Given the description of an element on the screen output the (x, y) to click on. 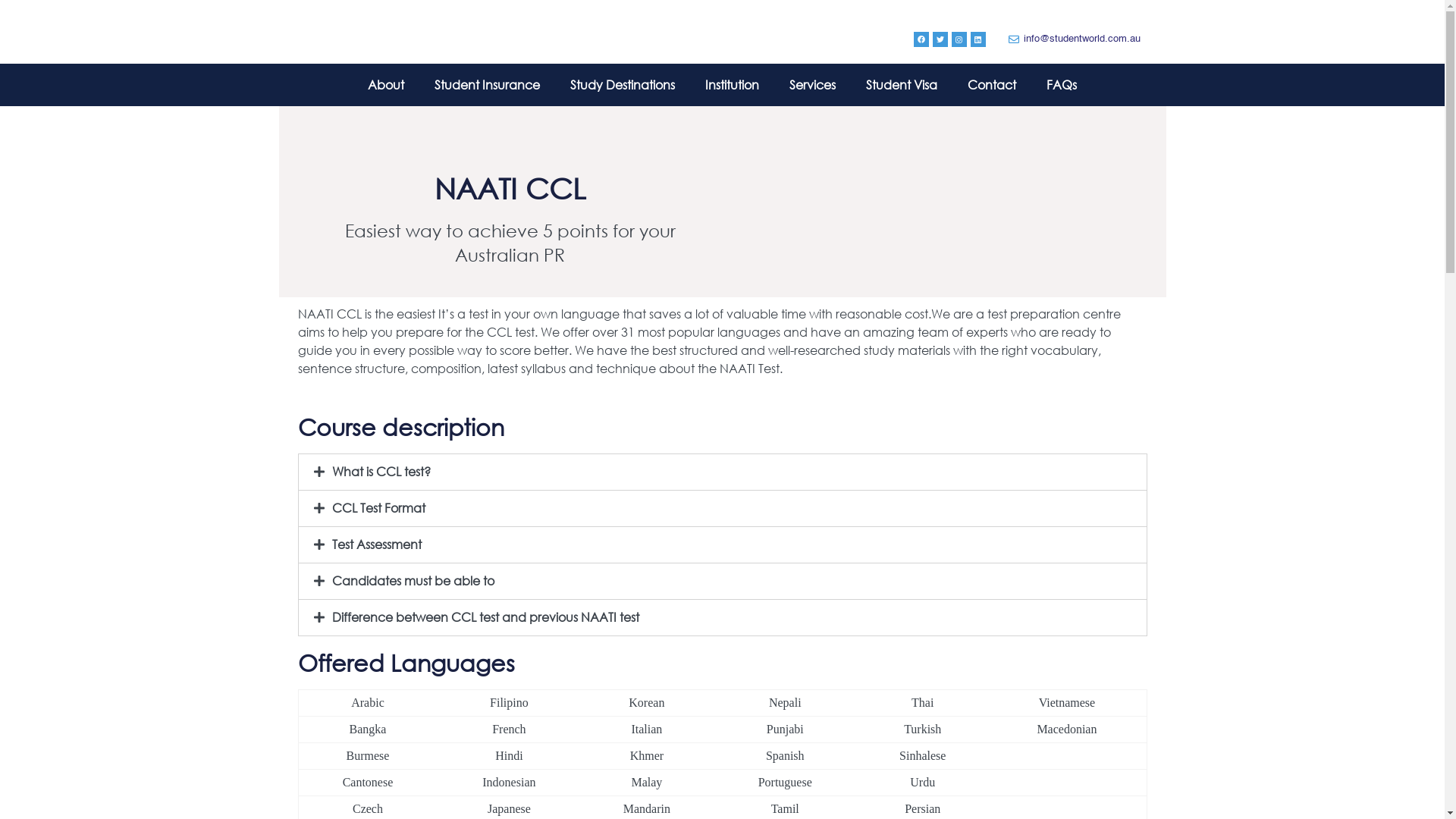
Difference between CCL test and previous NAATI test Element type: text (485, 616)
Test Assessment Element type: text (376, 544)
Services Element type: text (812, 84)
Institution Element type: text (732, 84)
FAQs Element type: text (1061, 84)
CCL Test Format Element type: text (378, 507)
Study Destinations Element type: text (622, 84)
About Element type: text (385, 84)
Student Visa Element type: text (901, 84)
Contact Element type: text (991, 84)
Candidates must be able to Element type: text (413, 580)
Student Insurance Element type: text (487, 84)
What is CCL test? Element type: text (381, 471)
